Given the description of an element on the screen output the (x, y) to click on. 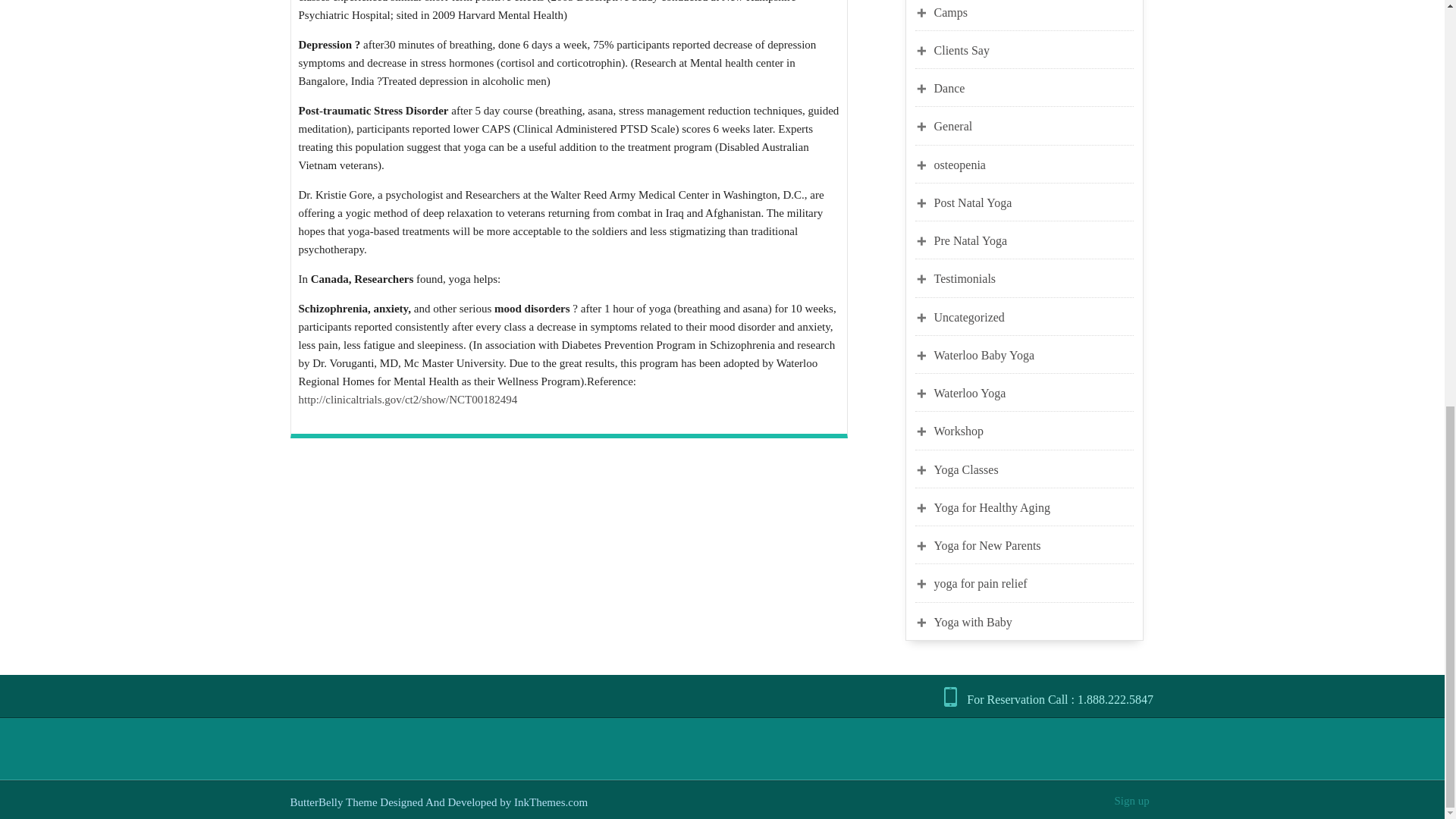
osteopenia (1034, 164)
Waterloo Baby Yoga (1034, 355)
Pre Natal Yoga (1034, 240)
Waterloo Yoga (1034, 392)
InkThemes.com (550, 802)
Post Natal Yoga (1034, 202)
General (1034, 125)
Yoga for Healthy Aging (1034, 507)
Uncategorized (1034, 317)
Clients Say (1034, 50)
